Given the description of an element on the screen output the (x, y) to click on. 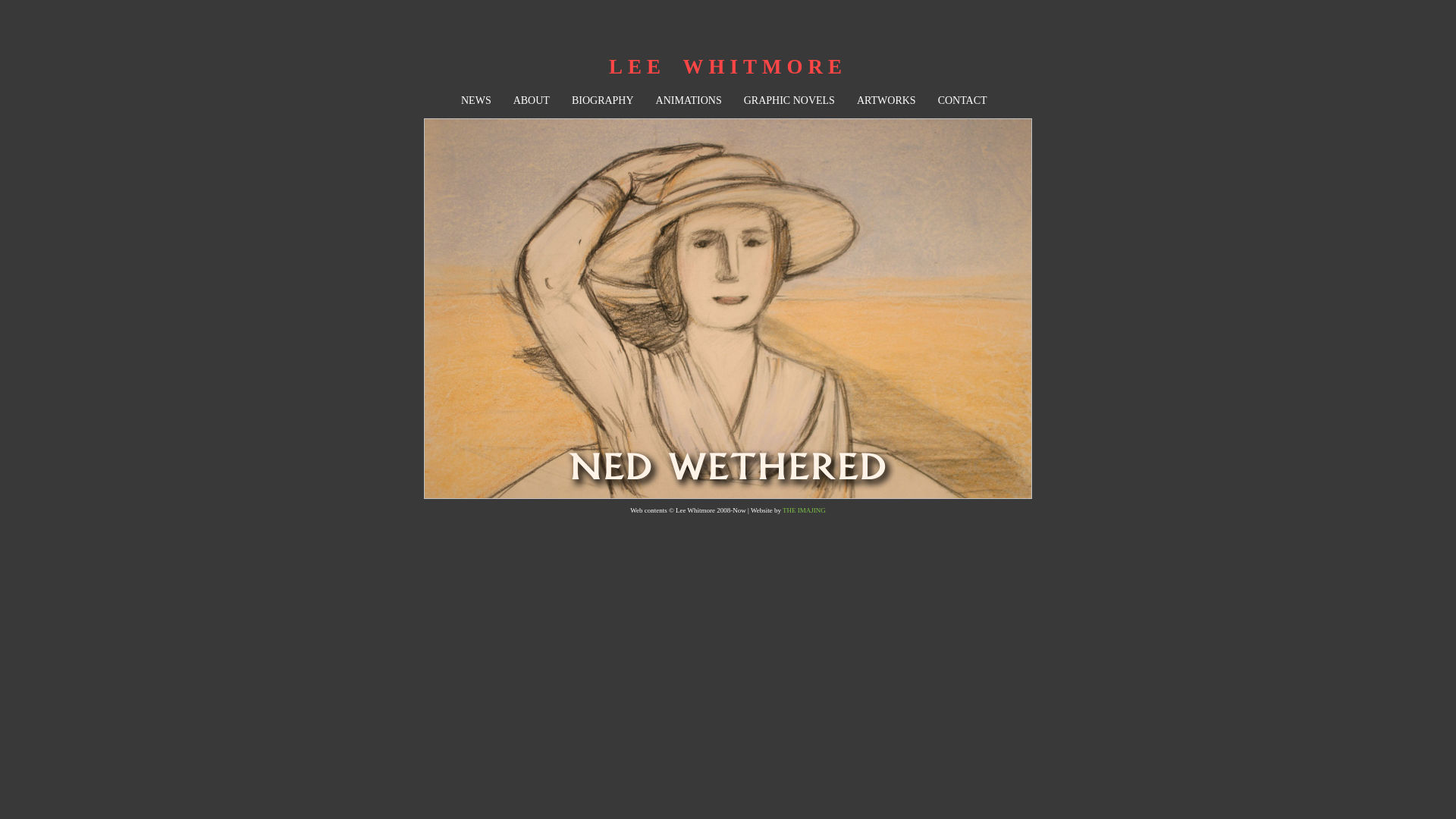
CONTACT Element type: text (962, 100)
ABOUT Element type: text (531, 100)
ARTWORKS Element type: text (886, 100)
THE IMAJING Element type: text (803, 510)
LEE WHITMORE Element type: text (727, 66)
BIOGRAPHY Element type: text (602, 100)
NEWS Element type: text (476, 100)
GRAPHIC NOVELS Element type: text (788, 100)
ANIMATIONS Element type: text (688, 100)
